Given the description of an element on the screen output the (x, y) to click on. 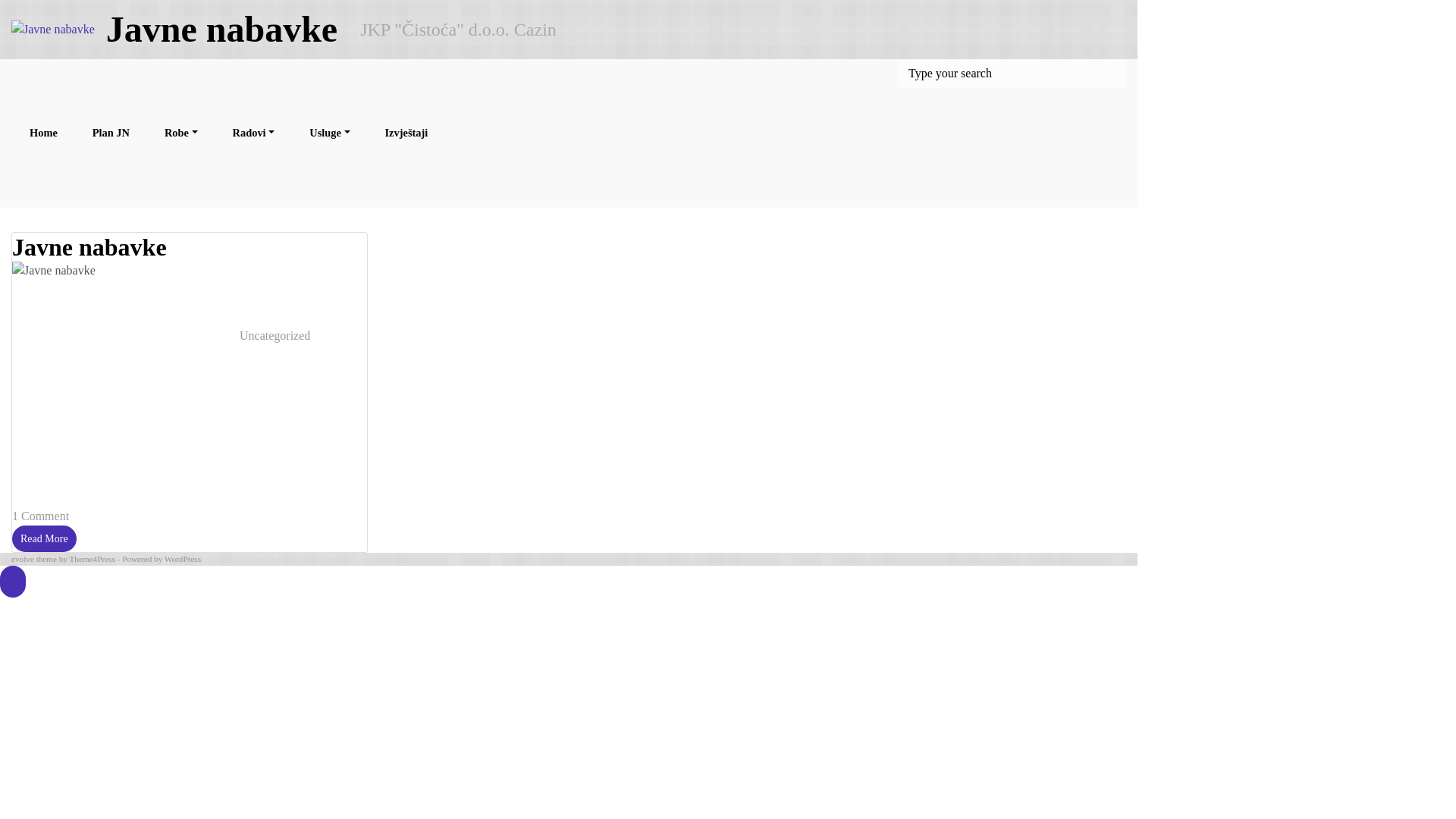
evolve Element type: text (22, 558)
Robe Element type: text (180, 133)
WordPress Element type: text (182, 558)
Javne nabavke Element type: text (221, 29)
Read More Element type: text (44, 538)
Usluge Element type: text (329, 133)
Javne nabavke Element type: text (89, 246)
Home Element type: text (43, 133)
Radovi Element type: text (253, 133)
Plan JN Element type: text (110, 133)
  Element type: text (12, 581)
Uncategorized Element type: text (274, 335)
1 Comment Element type: text (40, 515)
